Given the description of an element on the screen output the (x, y) to click on. 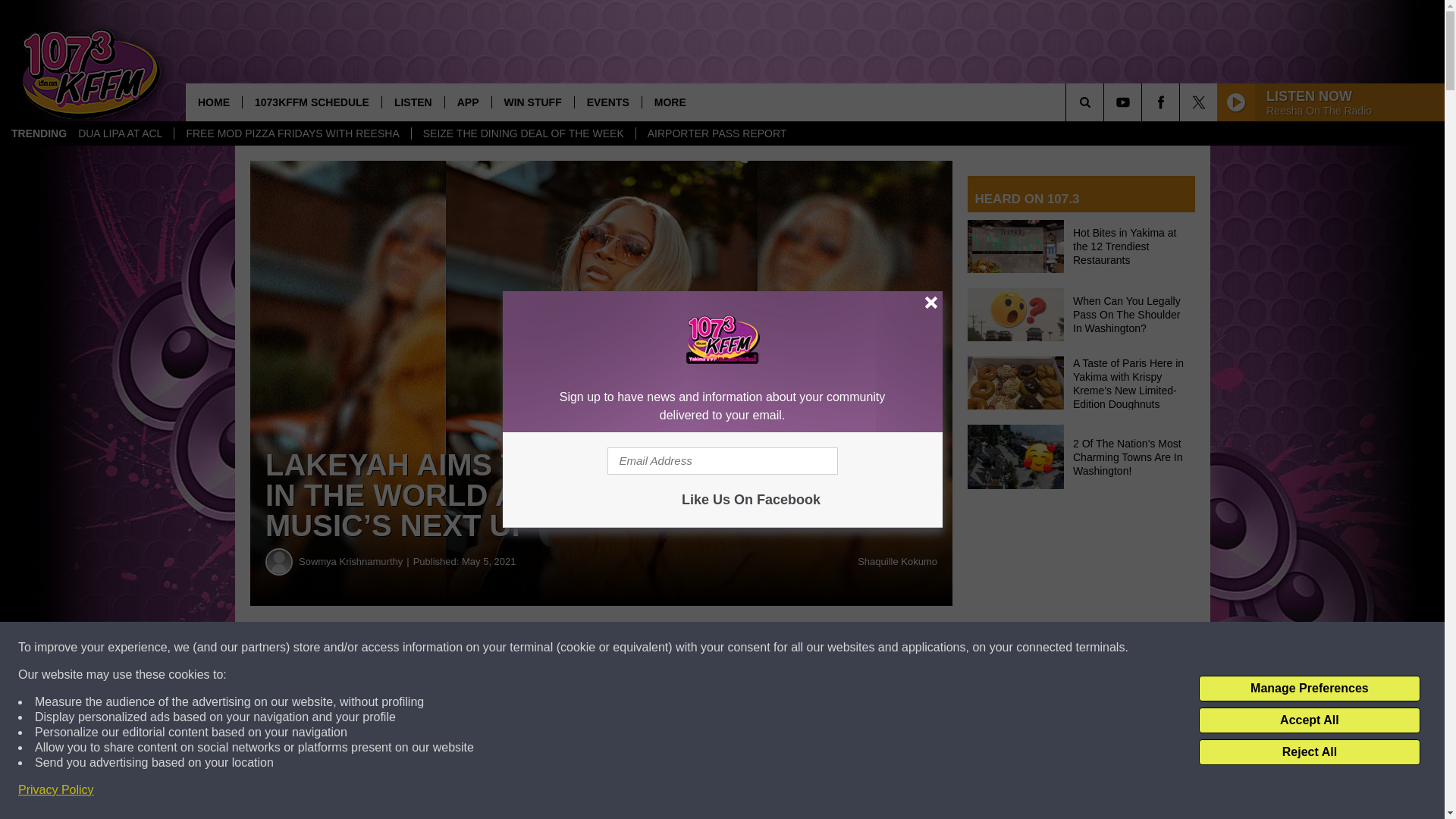
Manage Preferences (1309, 688)
1073KFFM SCHEDULE (311, 102)
Privacy Policy (55, 789)
WIN STUFF (532, 102)
EVENTS (607, 102)
Share on Twitter (741, 647)
Accept All (1309, 720)
LISTEN (412, 102)
APP (468, 102)
HOME (213, 102)
FREE MOD PIZZA FRIDAYS WITH REESHA (291, 133)
SEARCH (1106, 102)
SEIZE THE DINING DEAL OF THE WEEK (522, 133)
Reject All (1309, 751)
AIRPORTER PASS REPORT (715, 133)
